Given the description of an element on the screen output the (x, y) to click on. 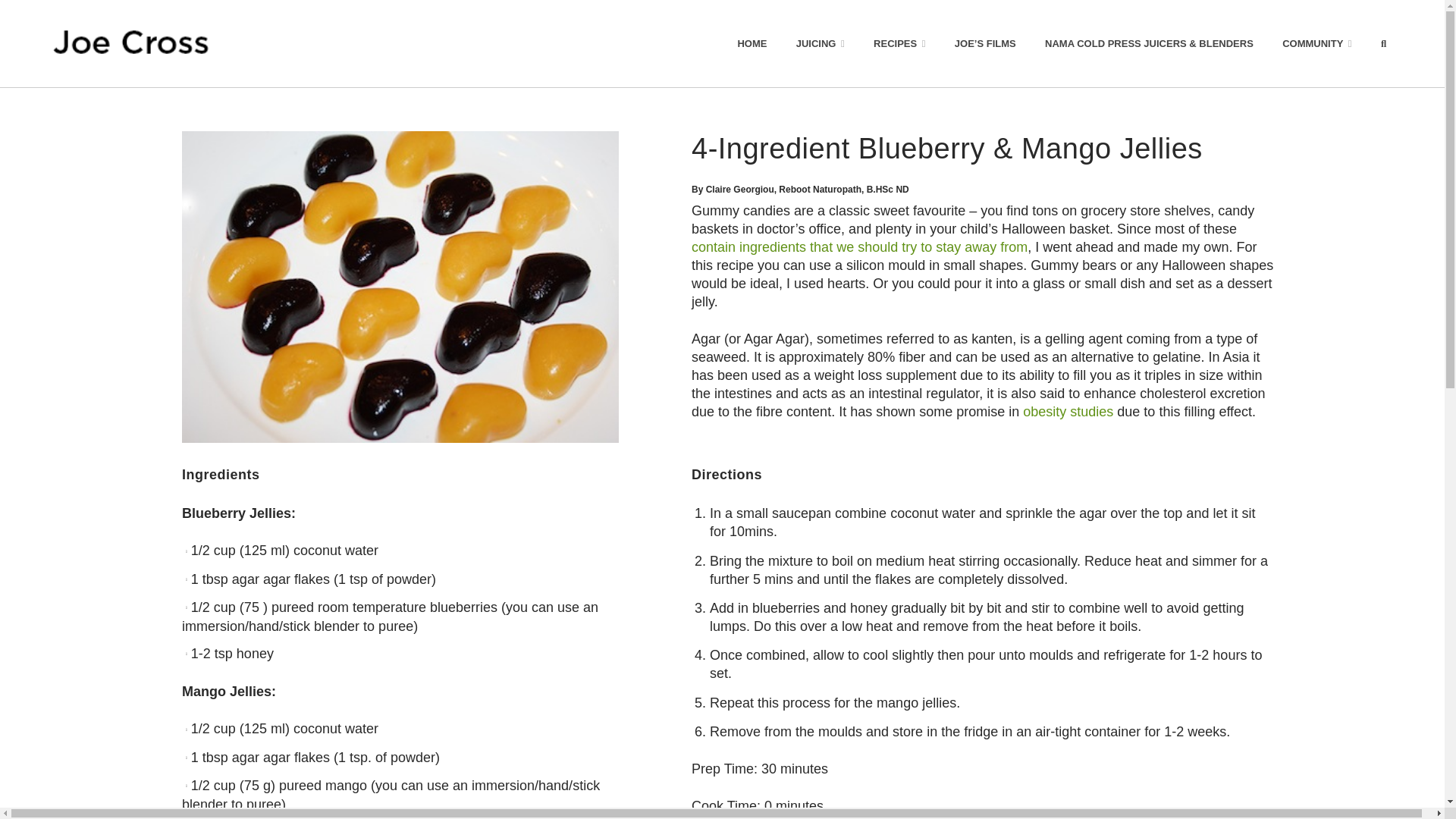
Joe Cross (131, 43)
COMMUNITY (1317, 43)
RECIPES (899, 43)
obesity studies (1068, 411)
contain ingredients that we should try to stay away from (859, 246)
